Given the description of an element on the screen output the (x, y) to click on. 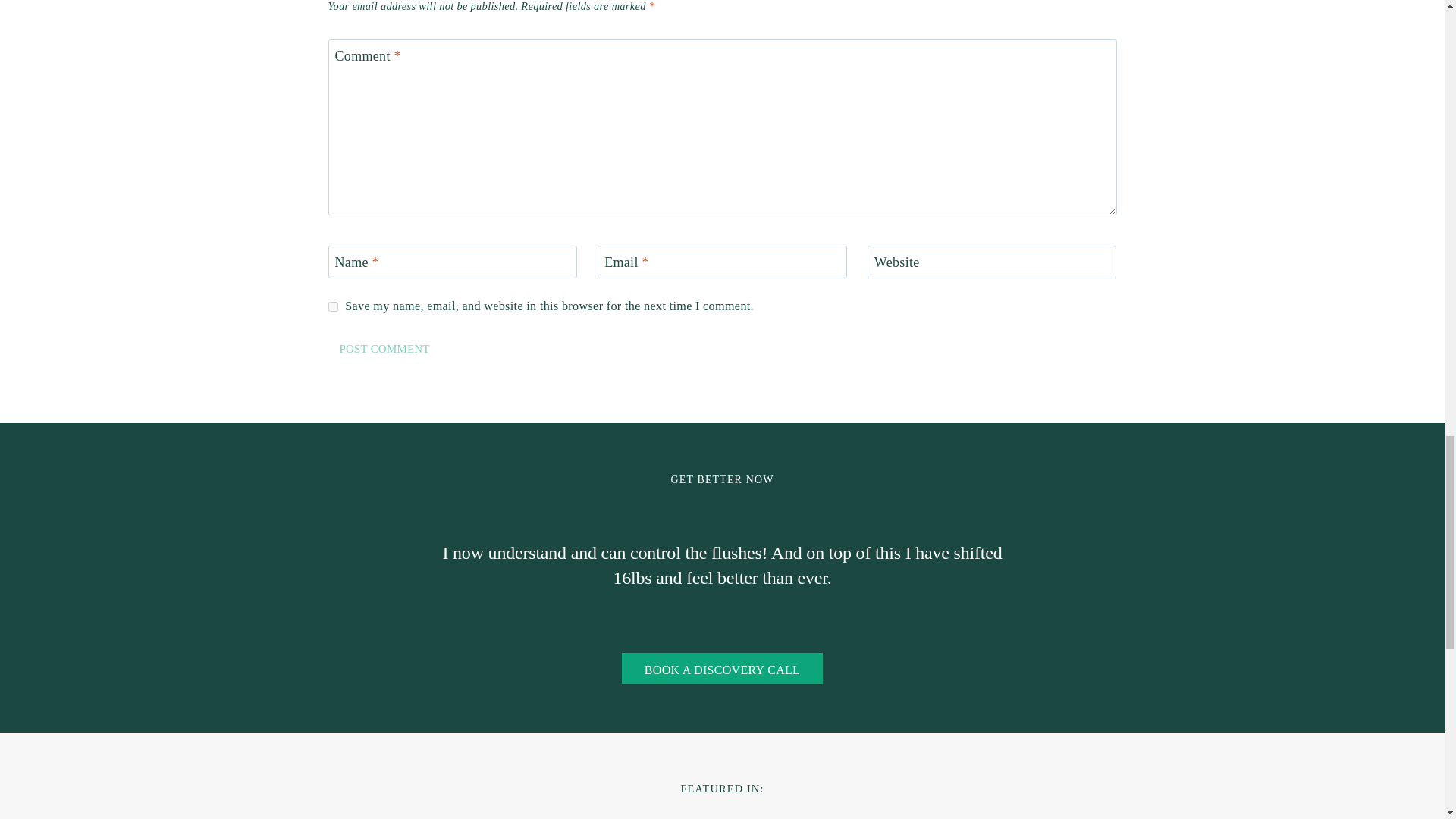
Post Comment (384, 348)
yes (332, 307)
